Given the description of an element on the screen output the (x, y) to click on. 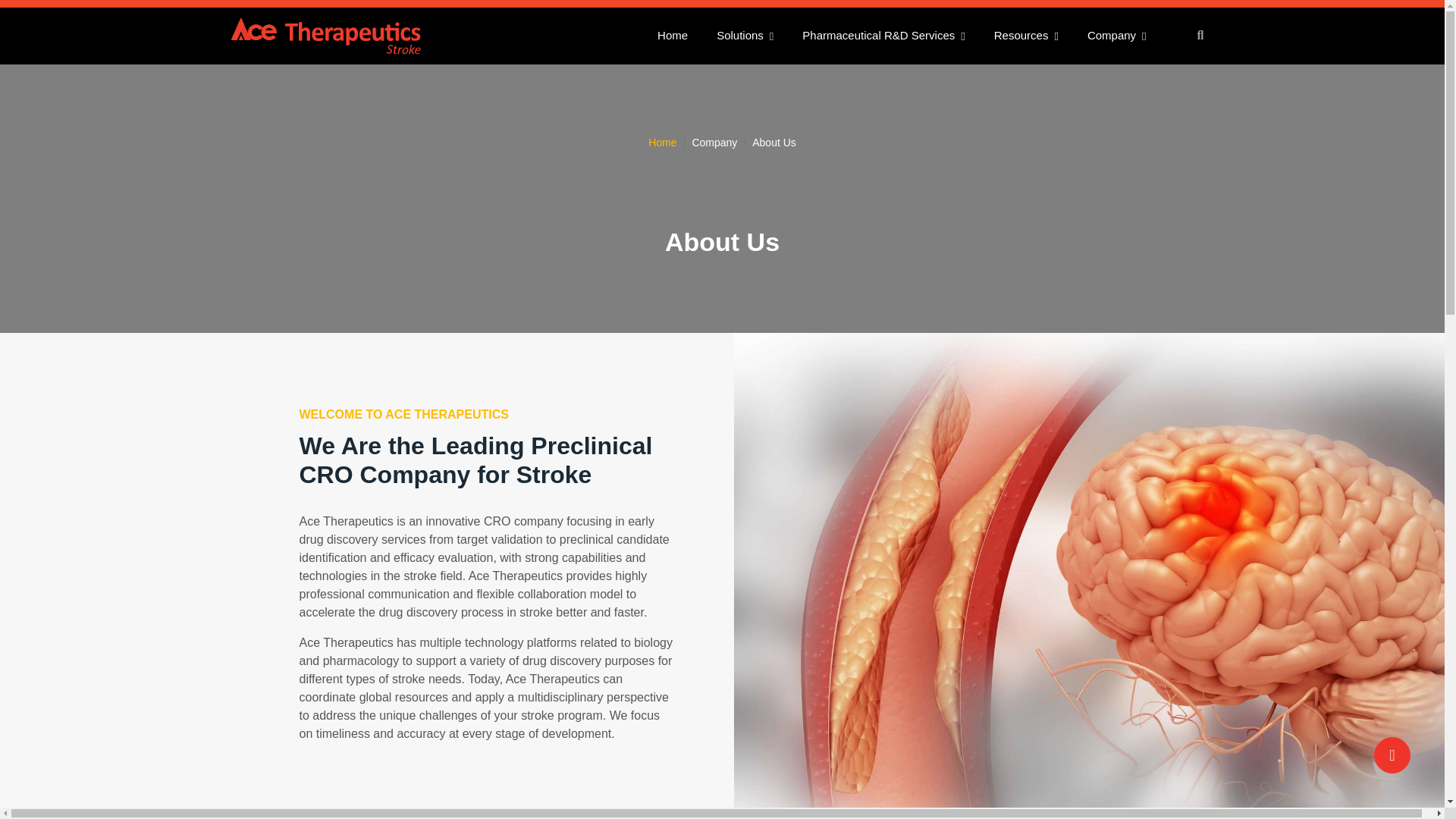
Resources (1026, 35)
Solutions (744, 35)
Company (1117, 35)
